Given the description of an element on the screen output the (x, y) to click on. 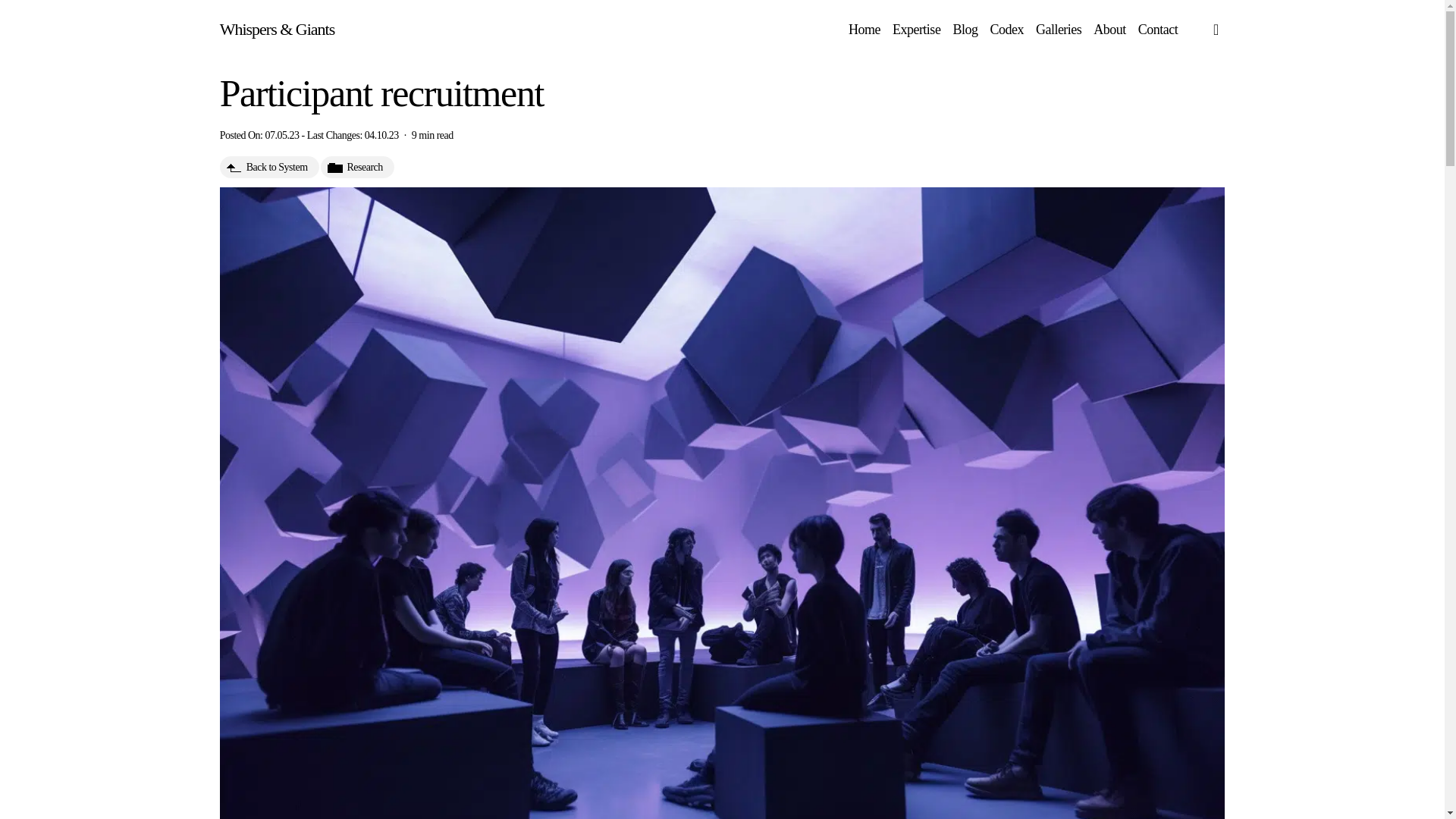
Home (864, 29)
About (1109, 29)
Galleries (1058, 29)
Back to System (268, 169)
Research (357, 169)
Contact (1157, 29)
Expertise (916, 29)
search (1215, 28)
Blog (964, 29)
Codex (1006, 29)
